Given the description of an element on the screen output the (x, y) to click on. 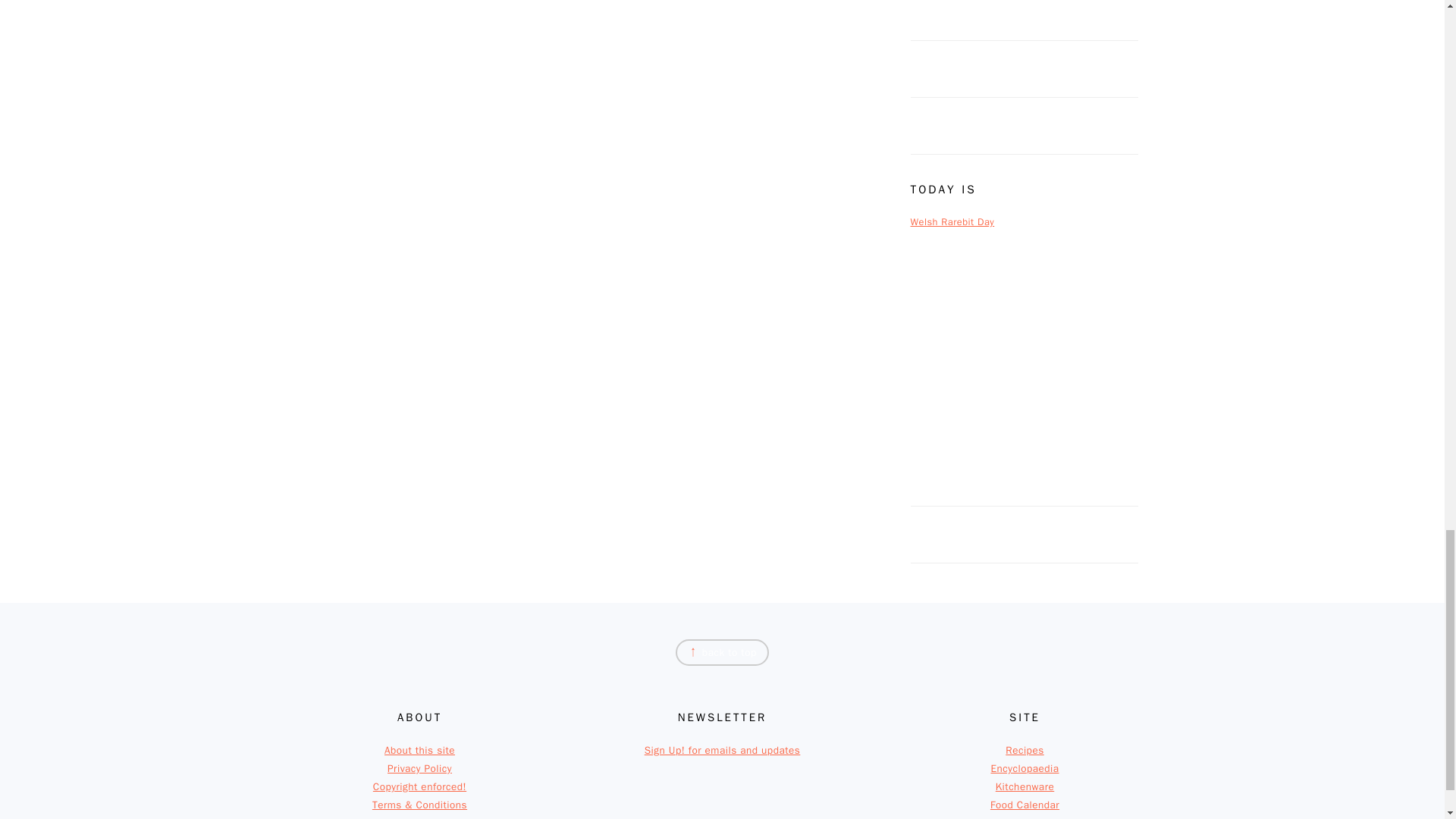
Privacy Policy (419, 768)
Welsh Rarebit Day (952, 222)
Sign Up! for emails and updates (722, 749)
About this site (419, 749)
Copyright enforced! (418, 786)
